Given the description of an element on the screen output the (x, y) to click on. 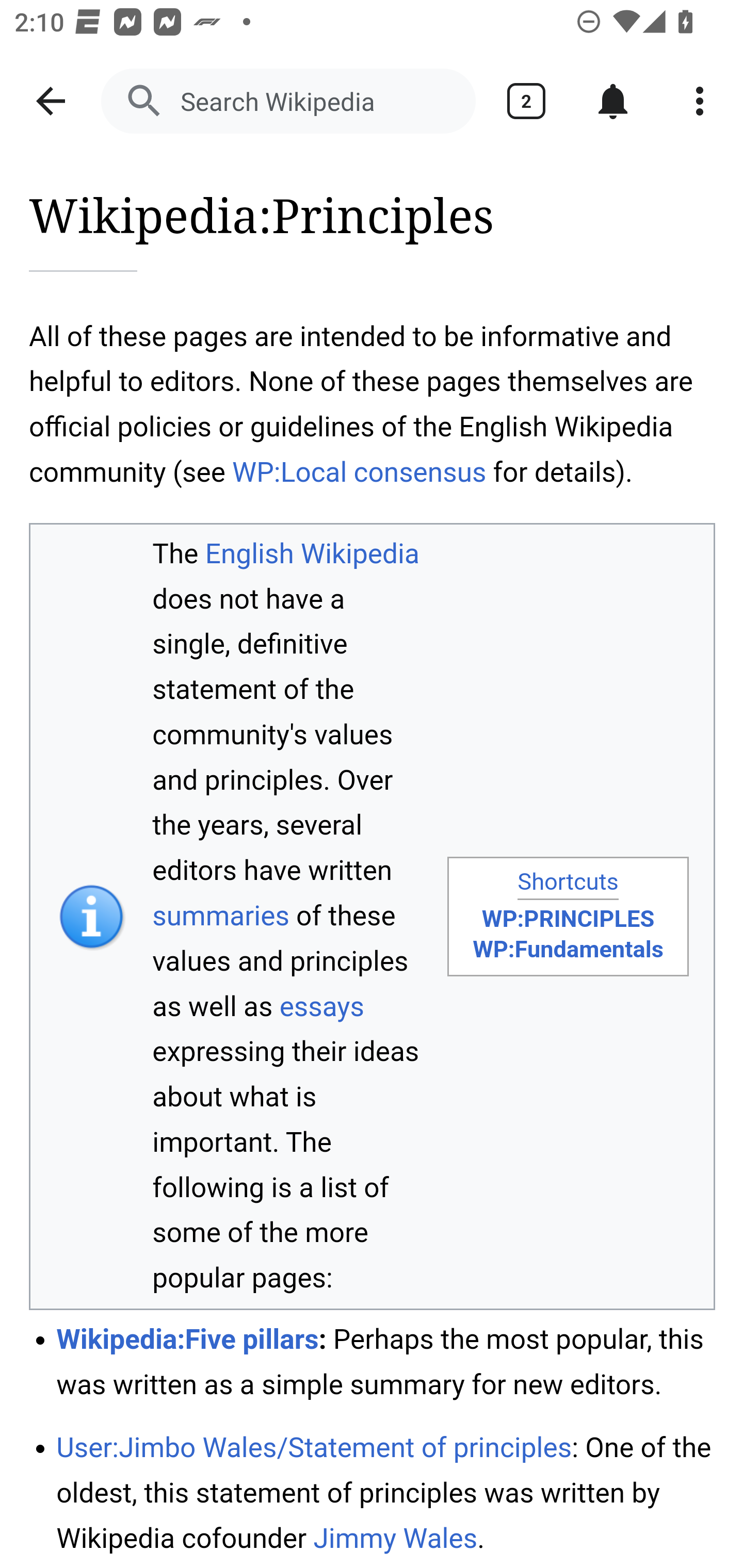
Show tabs 2 (525, 100)
Notifications (612, 100)
Navigate up (50, 101)
More options (699, 101)
Search Wikipedia (288, 100)
WP:Local consensus (359, 471)
English Wikipedia (311, 553)
Shortcuts (567, 882)
summaries (220, 915)
WP:PRINCIPLES (567, 918)
WP:Fundamentals (567, 949)
essays (320, 1006)
Wikipedia:Five pillars (187, 1337)
User:Jimbo Wales/Statement of principles (313, 1448)
Jimmy Wales (395, 1537)
